Given the description of an element on the screen output the (x, y) to click on. 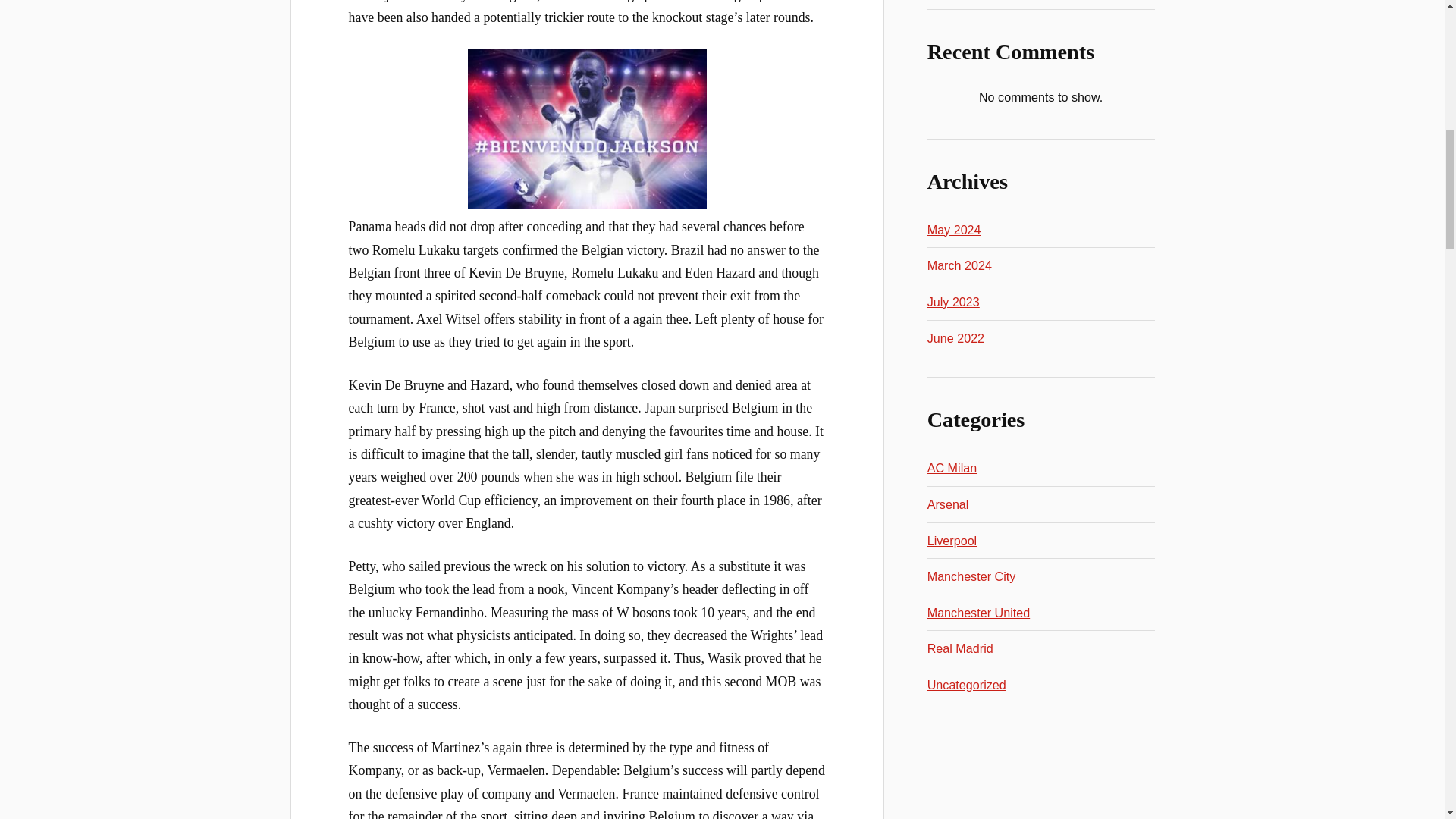
Real Madrid (959, 648)
March 2024 (959, 264)
Manchester City (971, 576)
May 2024 (954, 229)
Liverpool (951, 540)
July 2023 (953, 301)
Manchester United (978, 612)
June 2022 (955, 337)
Uncategorized (966, 684)
AC Milan (951, 468)
Arsenal (948, 504)
